Given the description of an element on the screen output the (x, y) to click on. 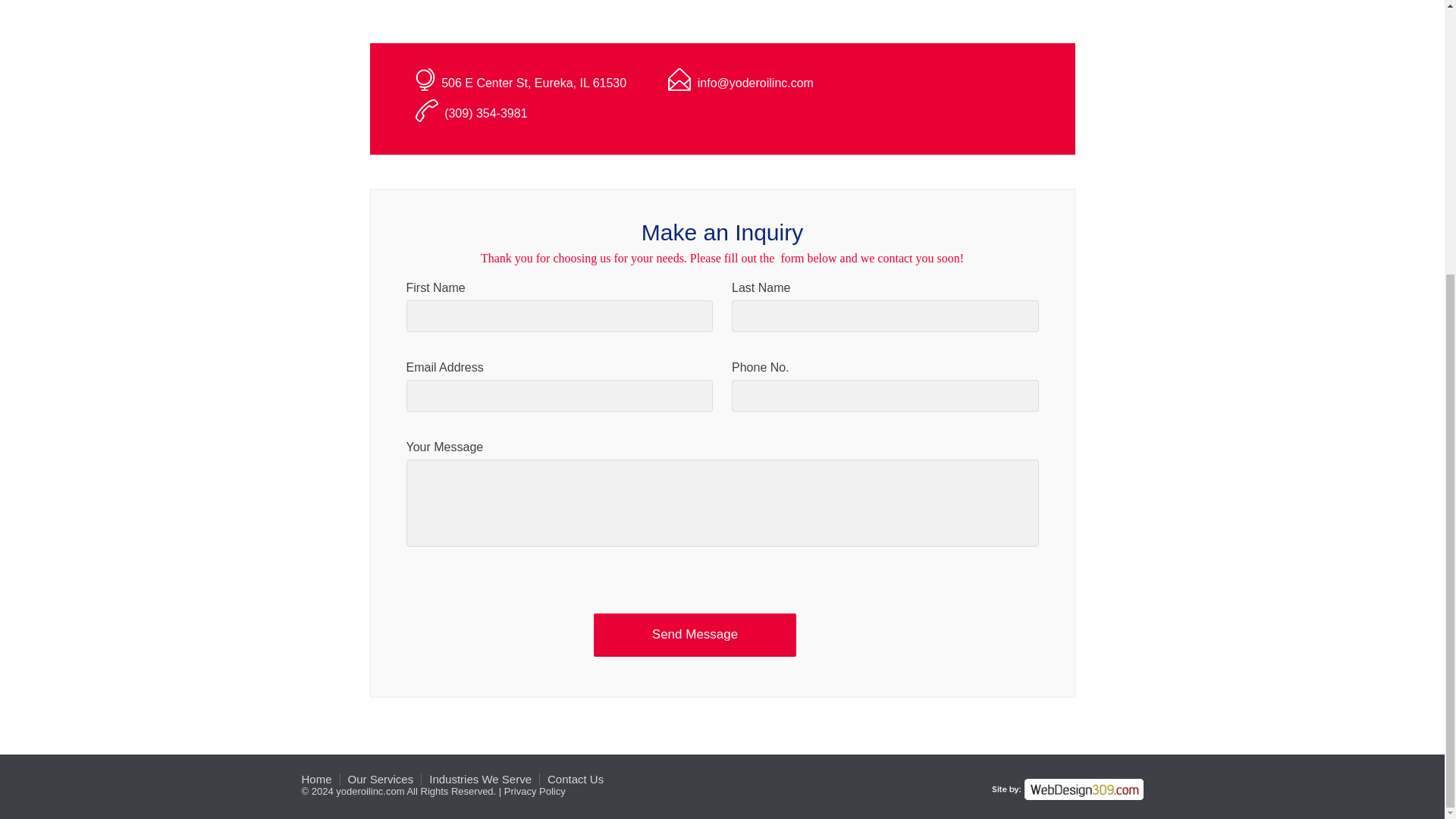
Our Services (380, 779)
Contact Us (575, 779)
Industries We Serve (480, 779)
Send Message (695, 634)
Home (316, 779)
Privacy Policy (534, 790)
Send Message (695, 634)
